Given the description of an element on the screen output the (x, y) to click on. 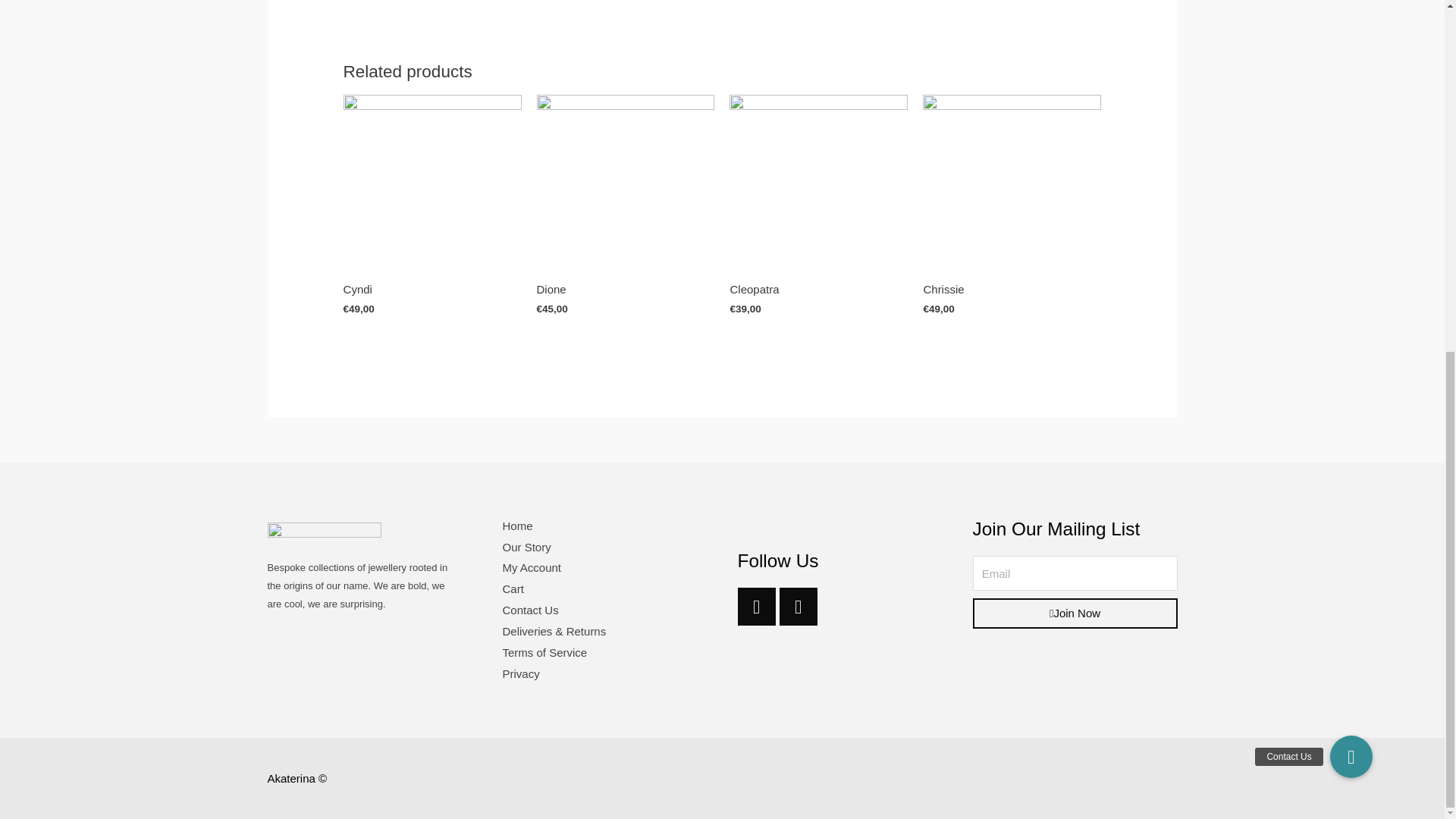
Our Story (526, 546)
Home (517, 525)
Dione (625, 289)
Cart (512, 588)
Cyndi (432, 289)
Privacy (520, 673)
Contact Us (529, 609)
Cleopatra (818, 289)
My Account (531, 567)
Terms of Service (544, 652)
